Given the description of an element on the screen output the (x, y) to click on. 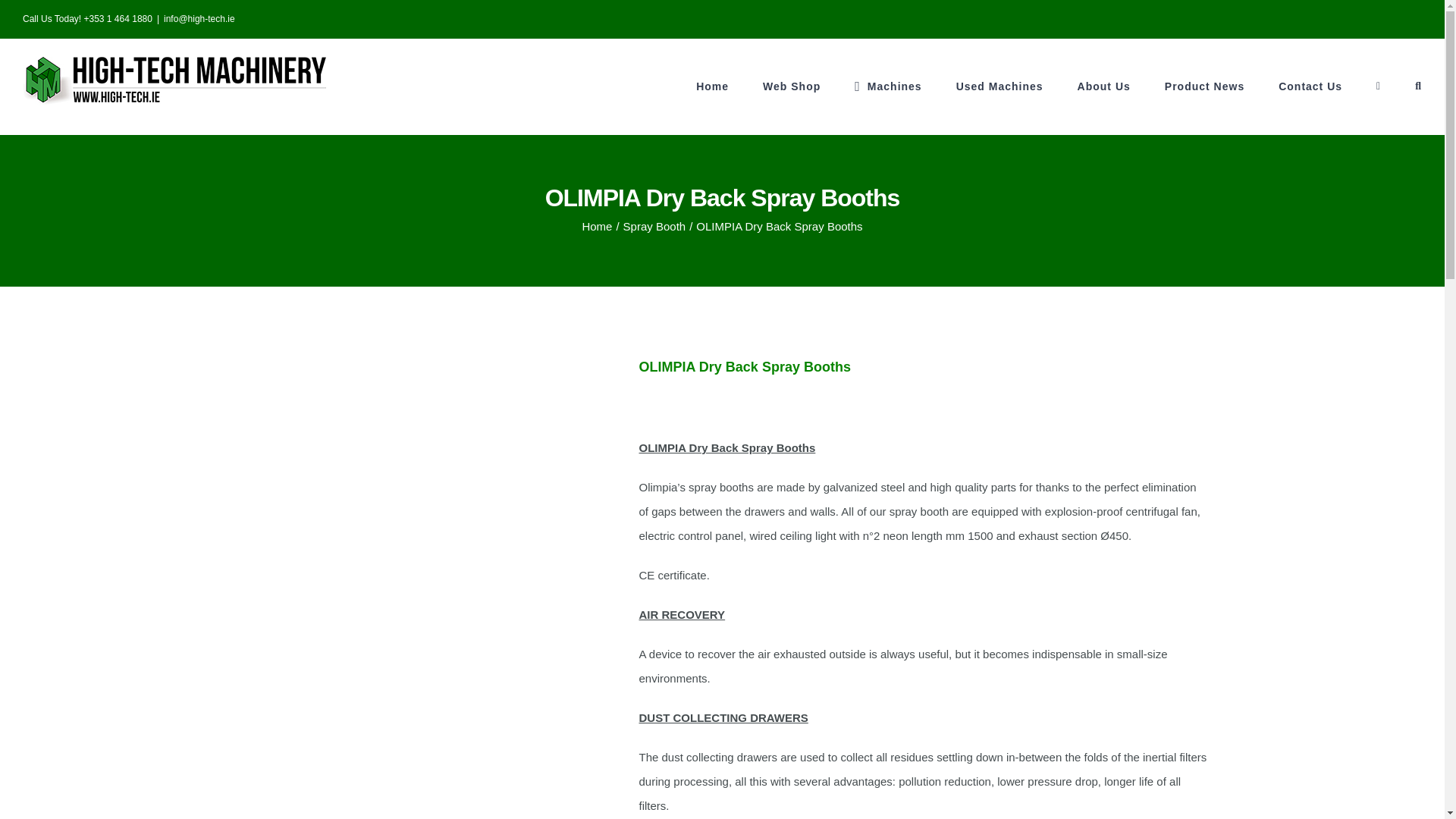
Home (712, 86)
Machines (887, 86)
Web Shop (791, 86)
